Given the description of an element on the screen output the (x, y) to click on. 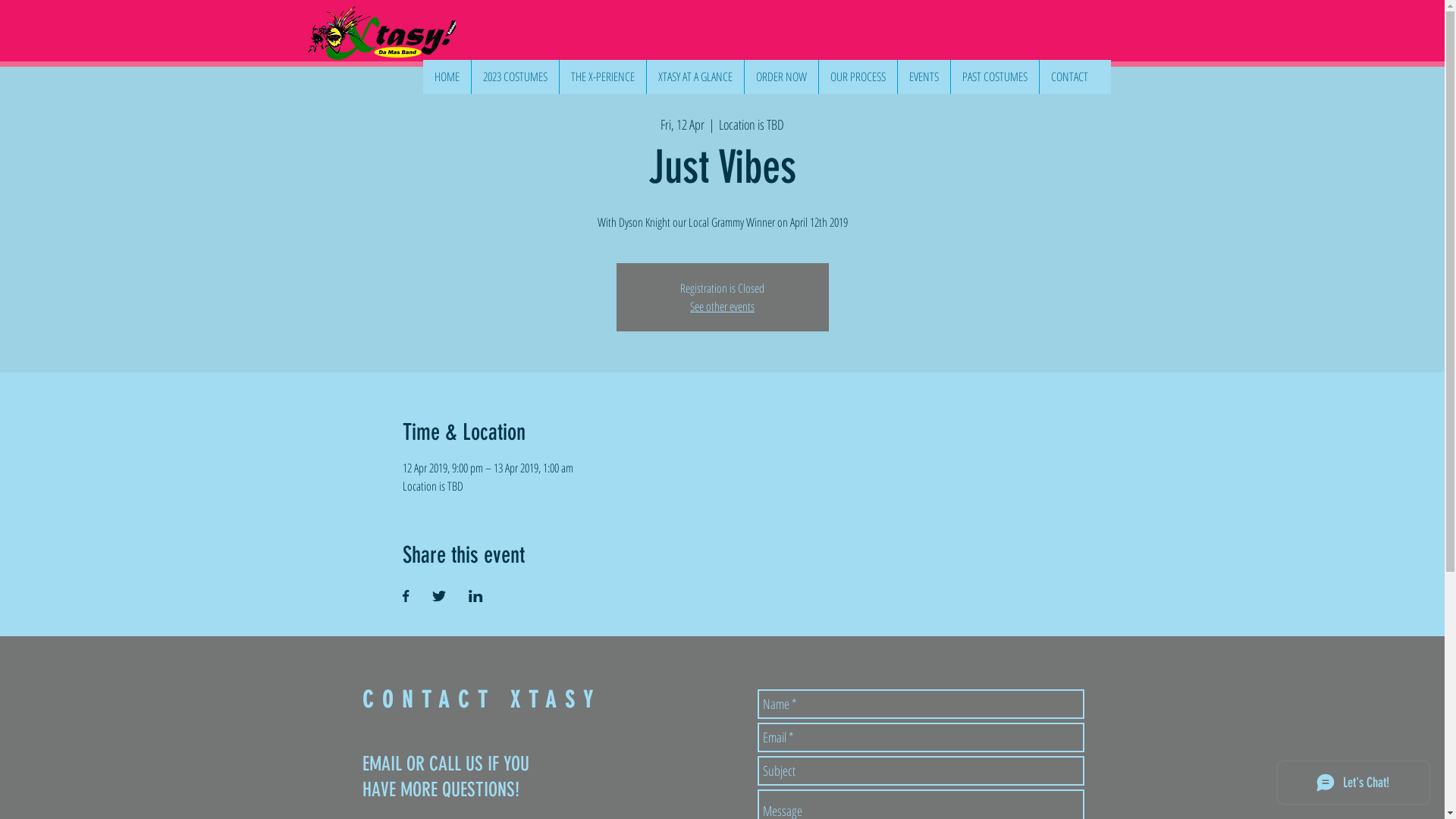
CONTACT Element type: text (1068, 76)
XTASY AT A GLANCE Element type: text (694, 76)
ORDER NOW Element type: text (780, 76)
OUR PROCESS Element type: text (856, 76)
EVENTS Element type: text (922, 76)
PAST COSTUMES Element type: text (993, 76)
See other events Element type: text (722, 306)
HOME Element type: text (446, 76)
2023 COSTUMES Element type: text (514, 76)
THE X-PERIENCE Element type: text (601, 76)
